Given the description of an element on the screen output the (x, y) to click on. 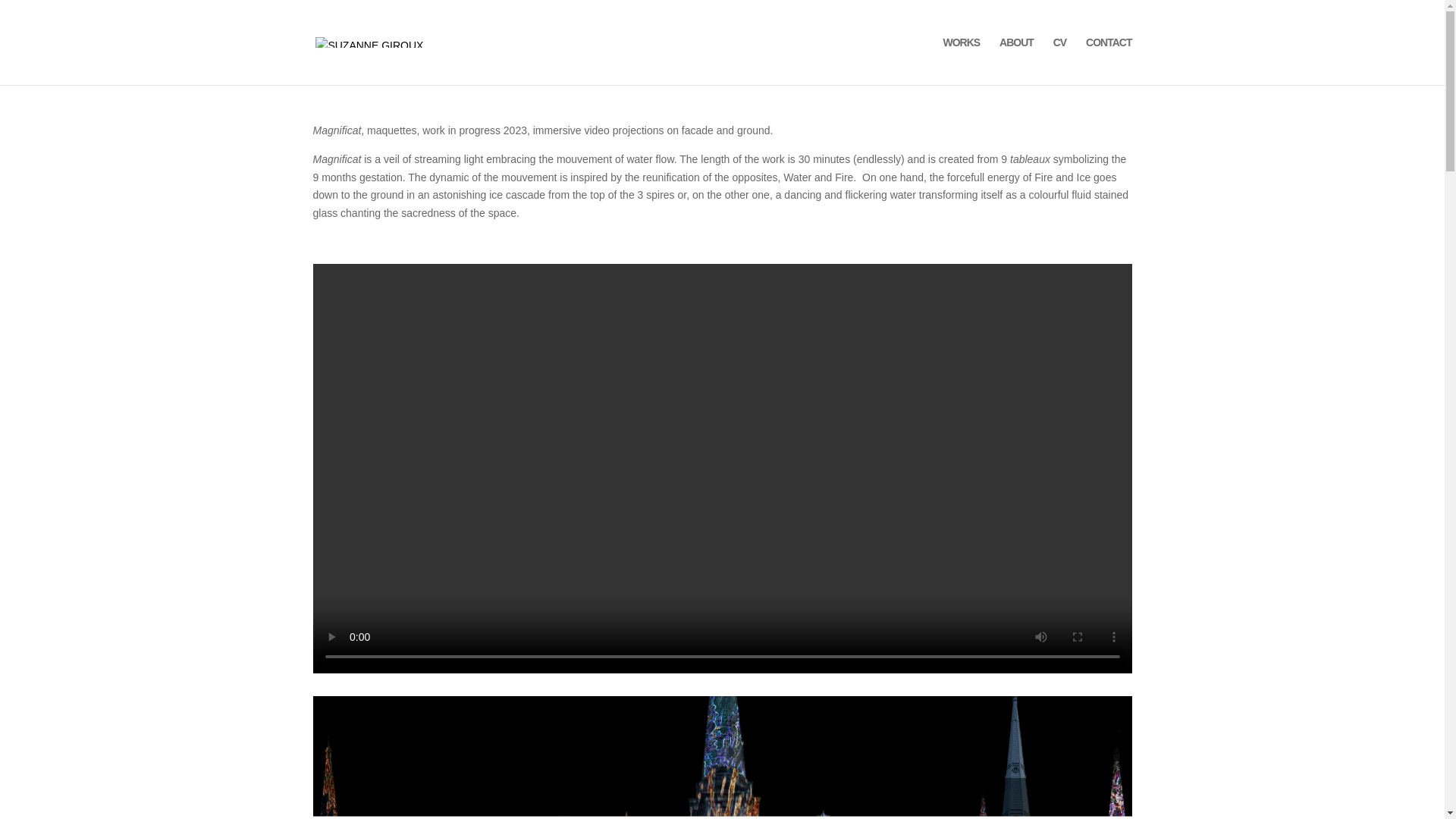
CONTACT (1108, 60)
